Given the description of an element on the screen output the (x, y) to click on. 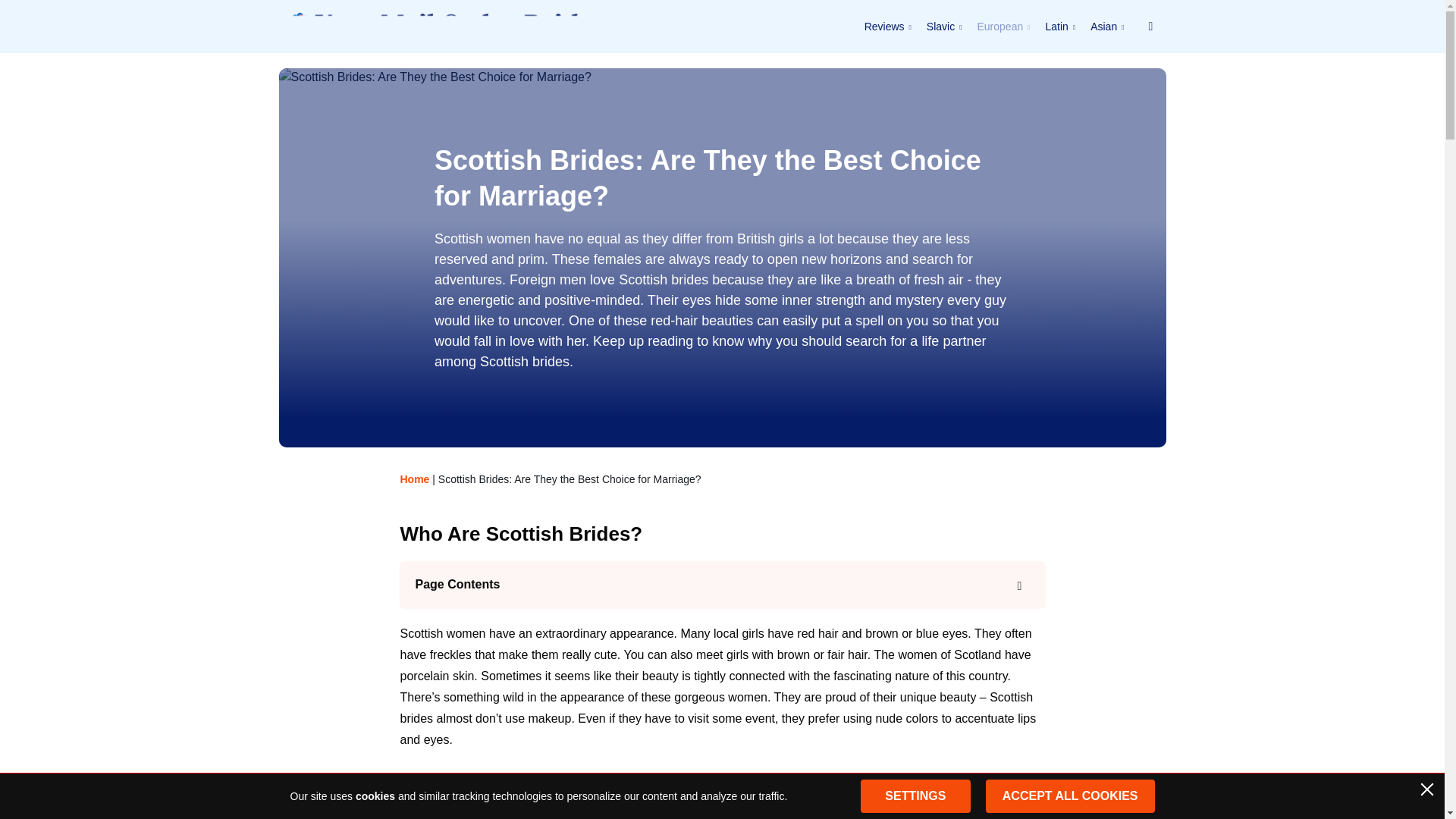
YourMailOrderBride (436, 26)
